Given the description of an element on the screen output the (x, y) to click on. 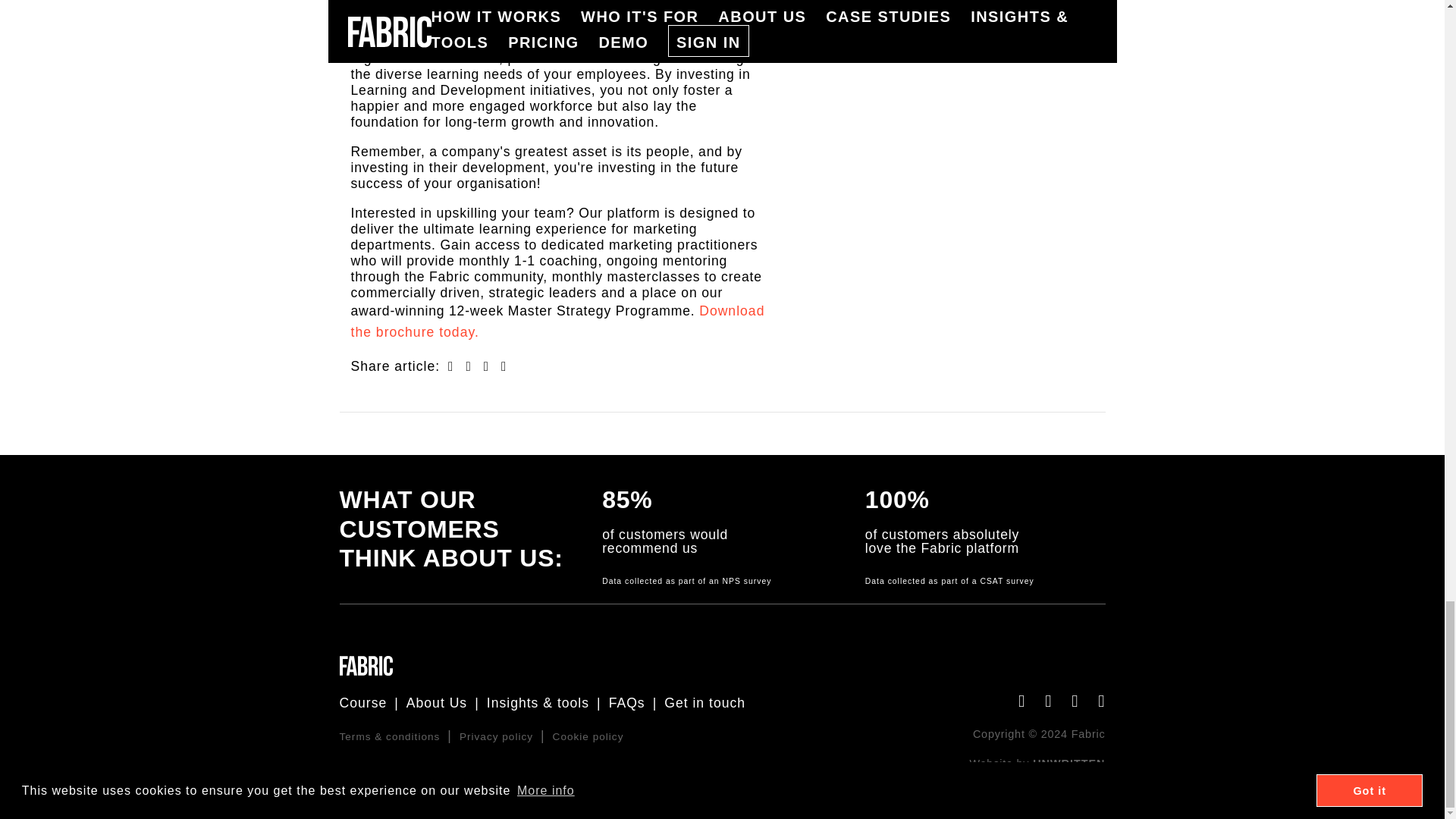
FAQs (626, 702)
Privacy policy (496, 736)
Course (363, 702)
Download the brochure today. (557, 321)
Get in touch (704, 702)
About Us (436, 702)
